Given the description of an element on the screen output the (x, y) to click on. 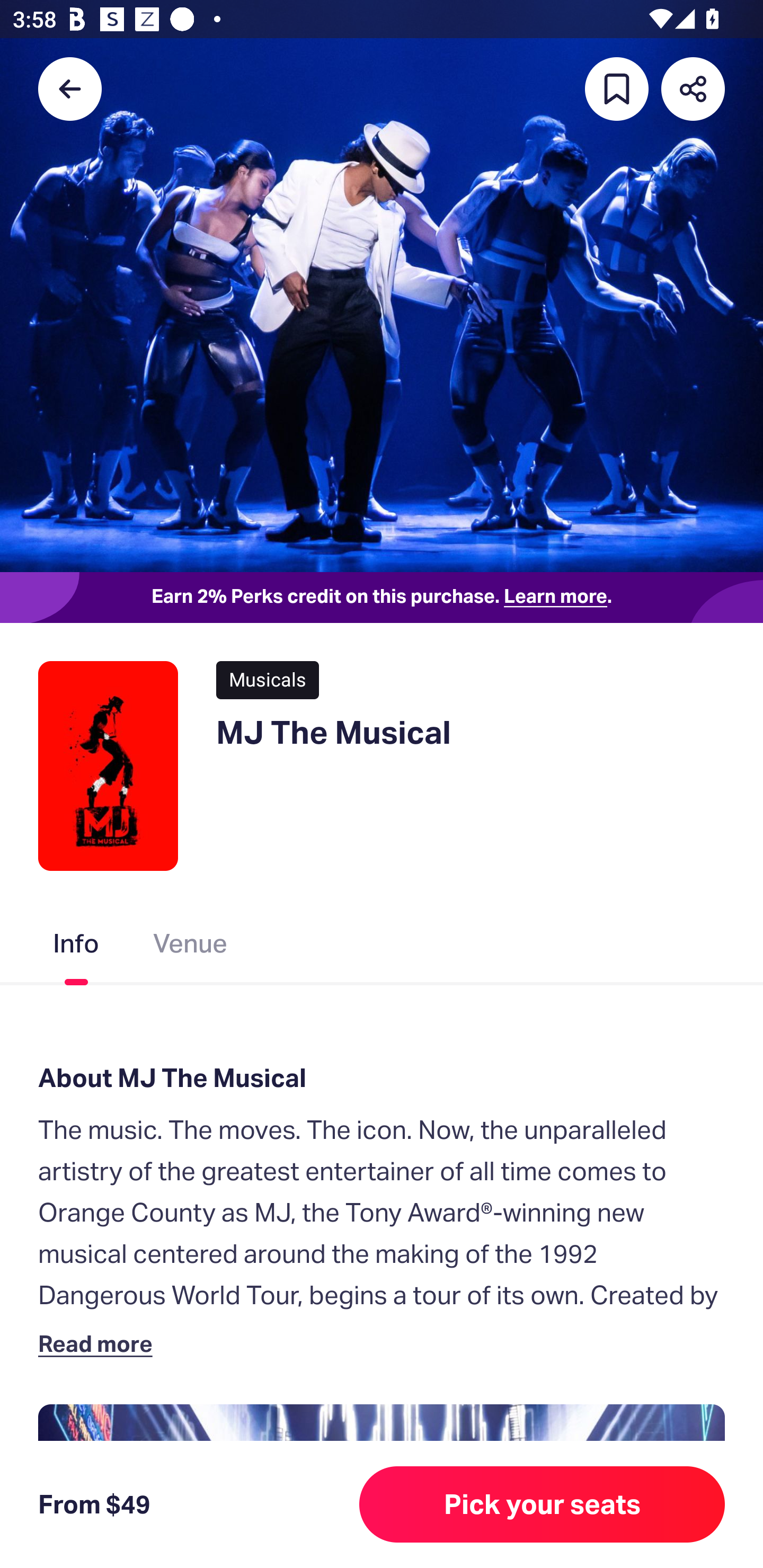
Earn 2% Perks credit on this purchase. Learn more. (381, 597)
Venue (190, 946)
About MJ The Musical (381, 1077)
Read more (99, 1342)
Pick your seats (541, 1504)
